Given the description of an element on the screen output the (x, y) to click on. 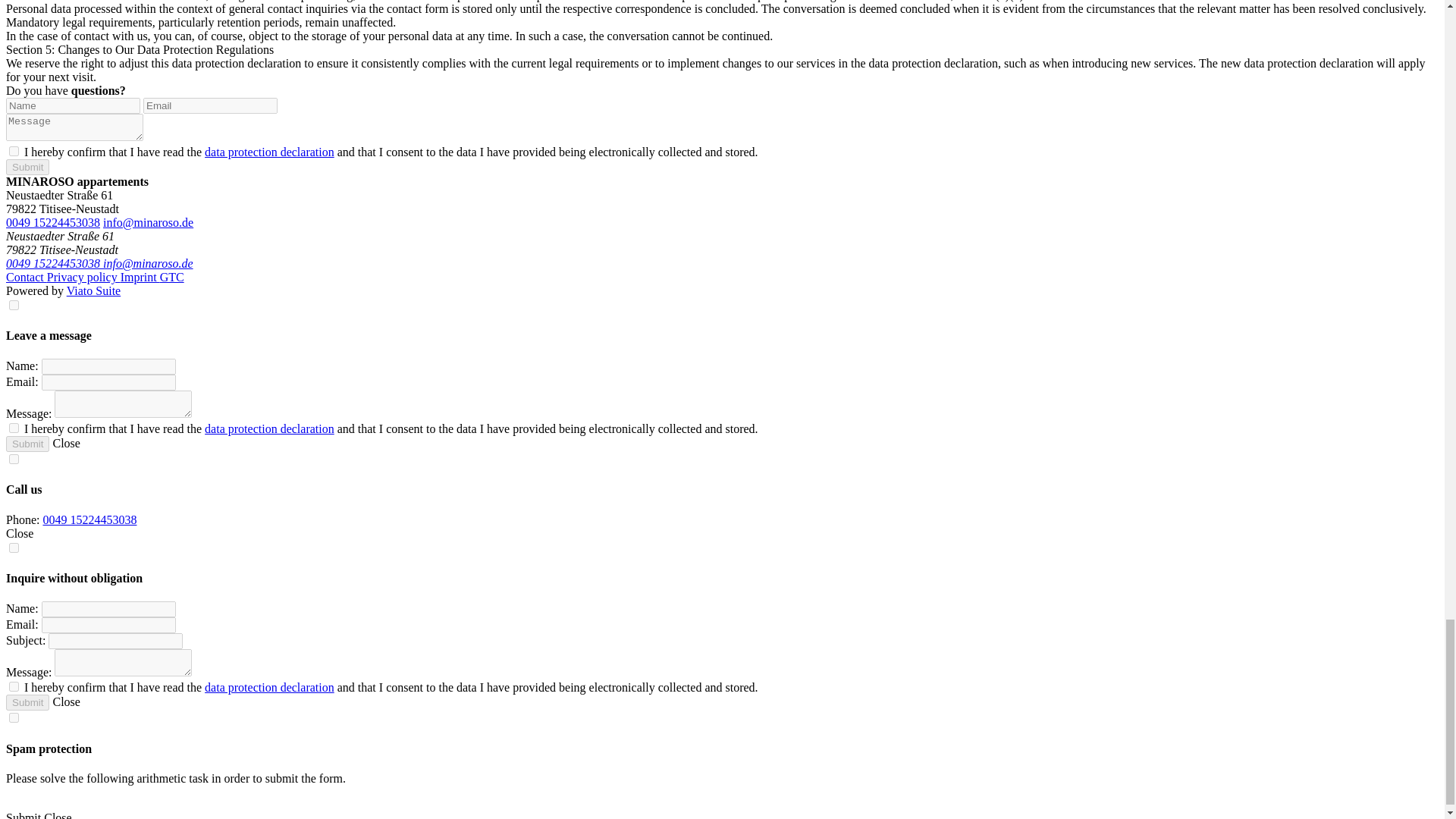
data protection declaration (269, 686)
Imprint (140, 277)
data protection declaration (269, 428)
on (13, 717)
on (13, 686)
Viato Suite (93, 290)
data protection declaration (269, 151)
on (13, 547)
GTC (172, 277)
0049 15224453038 (89, 519)
